Given the description of an element on the screen output the (x, y) to click on. 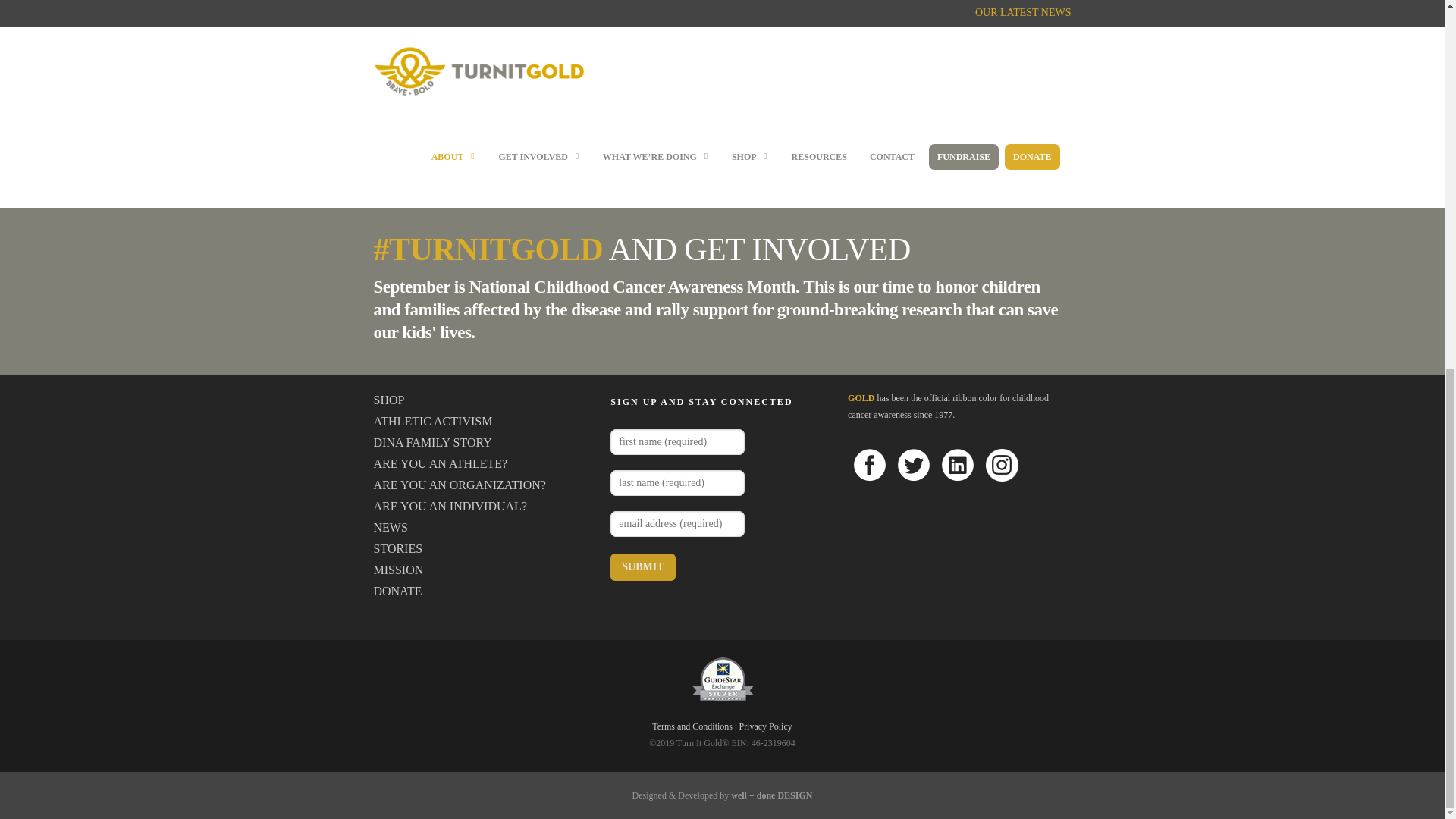
STORIES (483, 548)
SHOP (483, 400)
ARE YOU AN ATHLETE? (483, 464)
ATHLETIC ACTIVISM (483, 421)
DINA FAMILY STORY (483, 442)
ARE YOU AN ORGANIZATION? (483, 485)
fb:page Facebook Social Plugin (958, 90)
NEWS (483, 527)
Submit (642, 566)
ARE YOU AN INDIVIDUAL? (483, 506)
